Given the description of an element on the screen output the (x, y) to click on. 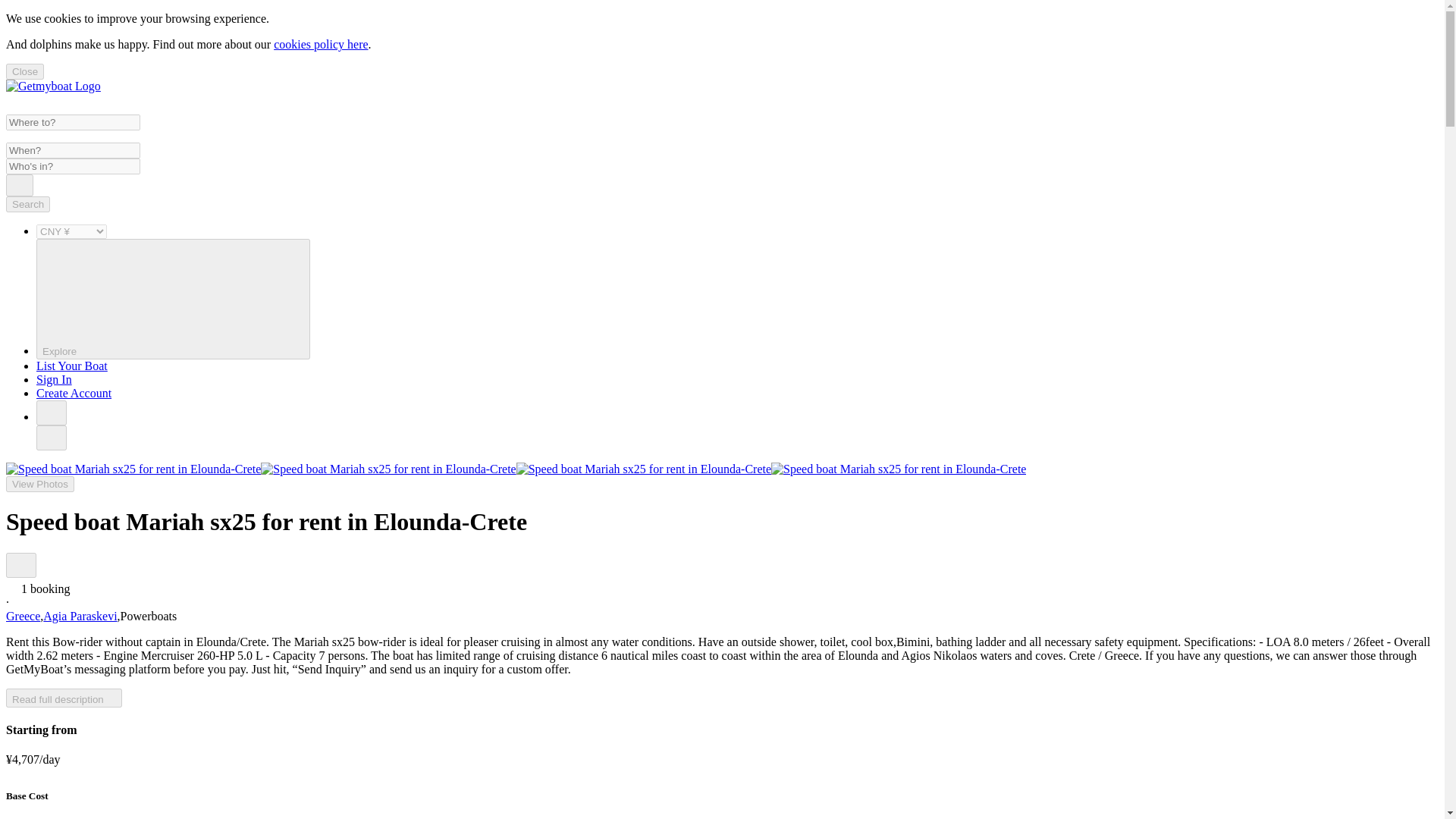
Search (27, 204)
View Photos (39, 483)
Greece (22, 615)
Search (19, 185)
cookies policy here (320, 43)
Explore (173, 299)
Read full description (63, 697)
Agia Paraskevi (79, 615)
Sign In (53, 379)
Close (24, 71)
